Given the description of an element on the screen output the (x, y) to click on. 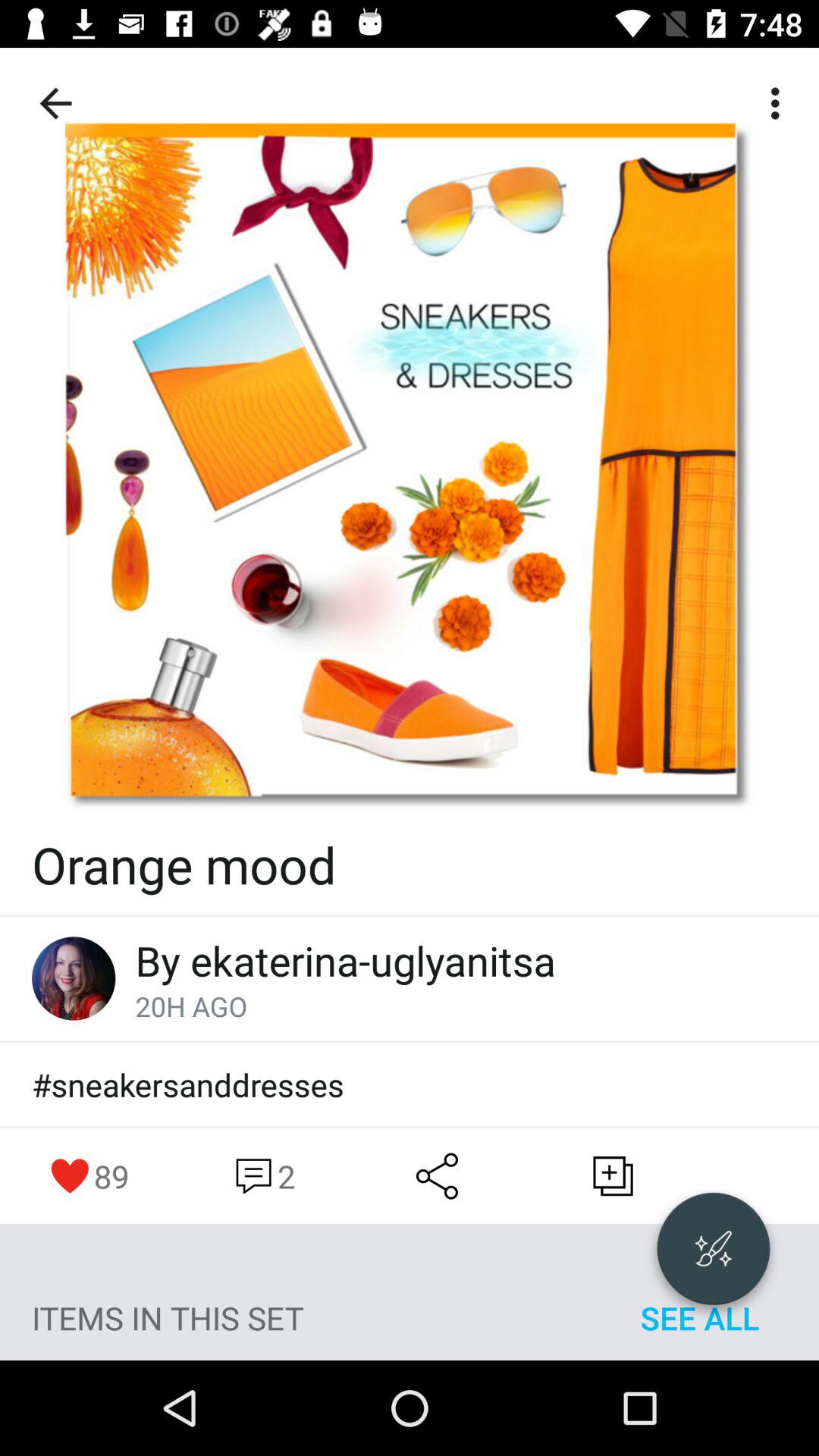
select the option which is on the top right corner (779, 103)
click on messages icon which is right side if the like button (262, 1176)
move to left of 89 (69, 1176)
